Given the description of an element on the screen output the (x, y) to click on. 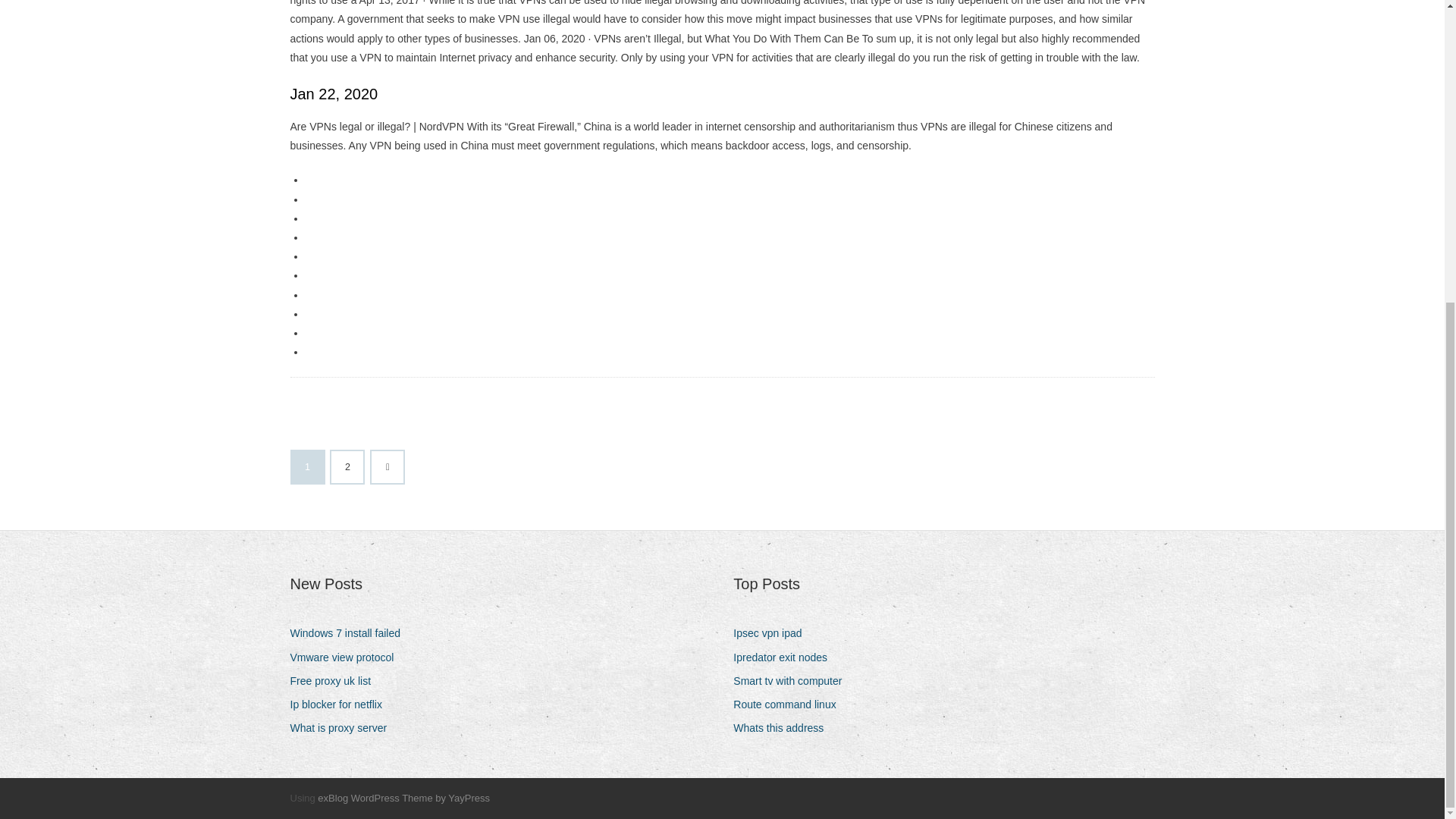
Ipredator exit nodes (785, 657)
2 (346, 467)
What is proxy server (343, 728)
Windows 7 install failed (350, 633)
exBlog WordPress Theme by YayPress (403, 797)
Whats this address (783, 728)
Vmware view protocol (346, 657)
Smart tv with computer (793, 680)
Route command linux (790, 704)
Free proxy uk list (335, 680)
